Given the description of an element on the screen output the (x, y) to click on. 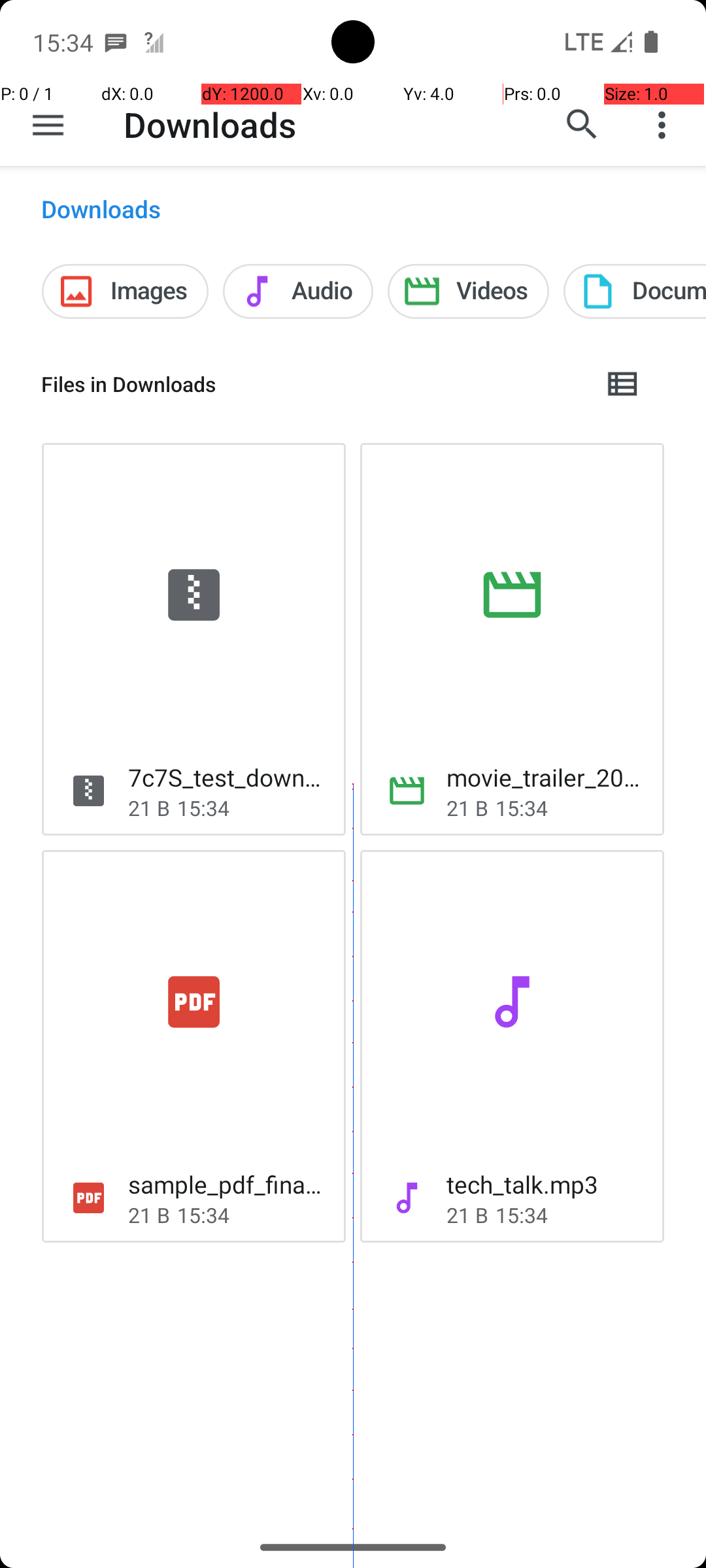
7c7S_test_download.zip Element type: android.widget.TextView (226, 776)
21 B Element type: android.widget.TextView (148, 807)
movie_trailer_2023_03_16.mp4 Element type: android.widget.TextView (544, 776)
sample_pdf_final.pdf Element type: android.widget.TextView (226, 1183)
tech_talk.mp3 Element type: android.widget.TextView (522, 1183)
